Given the description of an element on the screen output the (x, y) to click on. 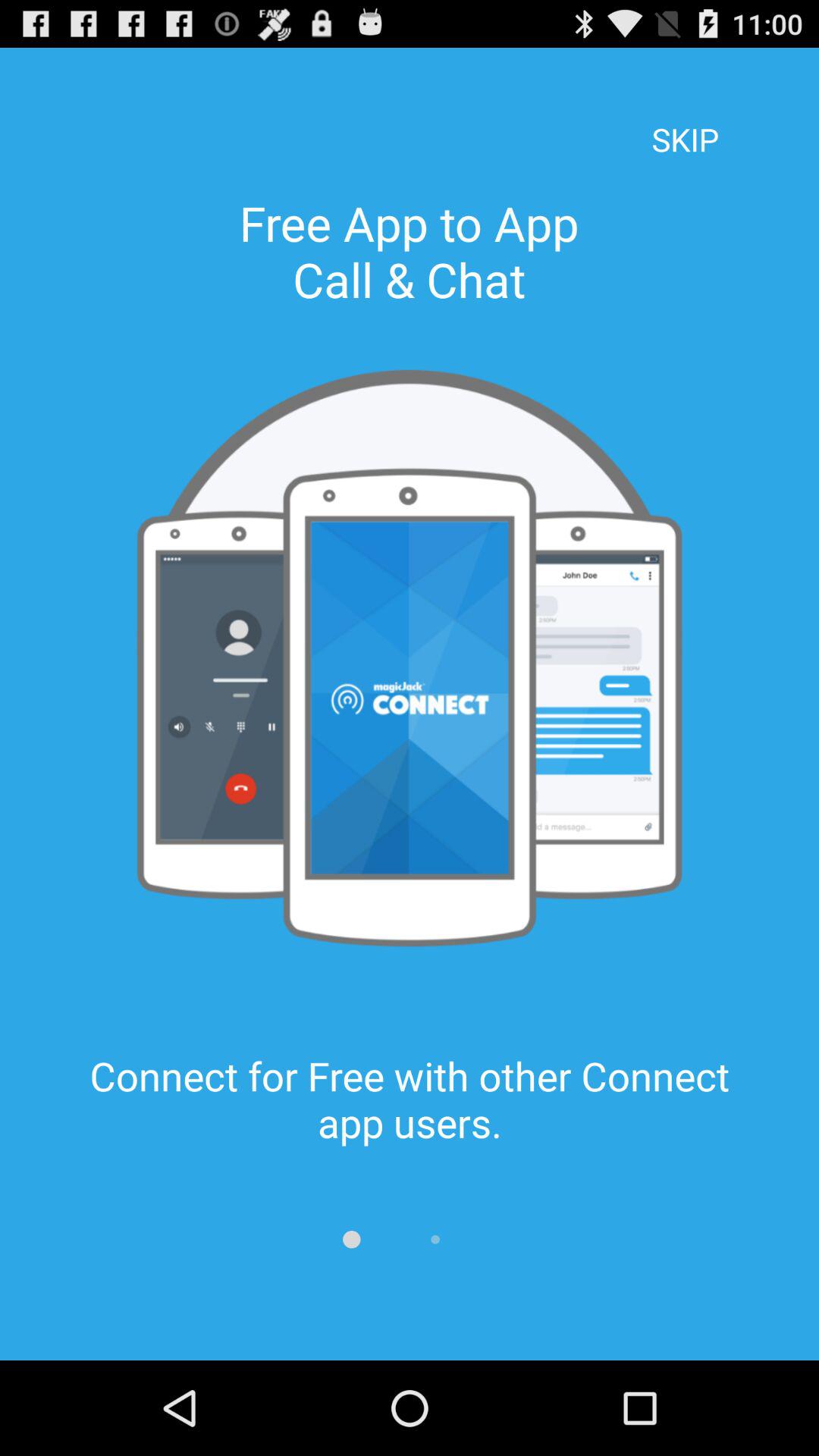
next page (435, 1239)
